Given the description of an element on the screen output the (x, y) to click on. 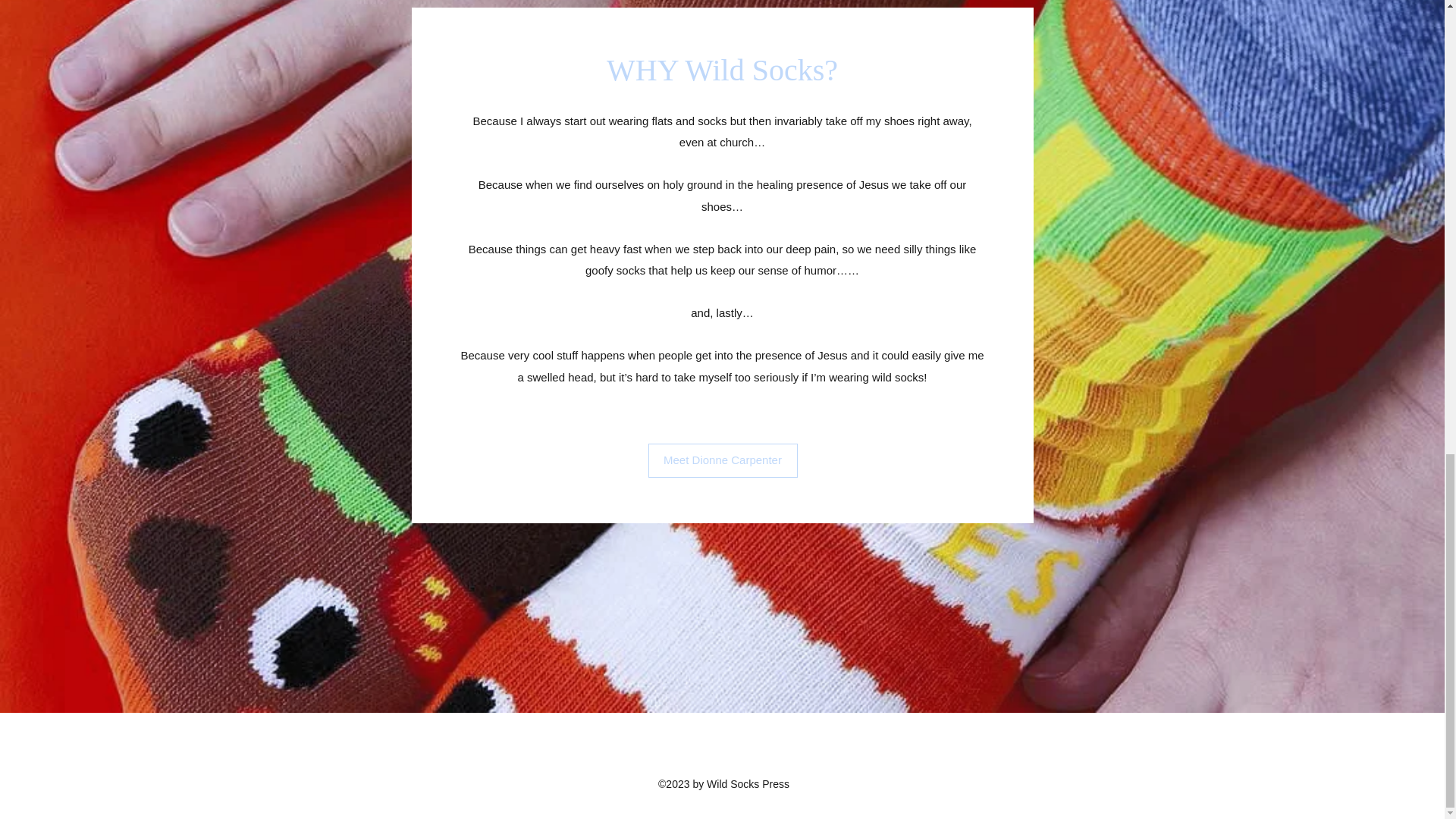
Meet Dionne Carpenter (721, 460)
